Given the description of an element on the screen output the (x, y) to click on. 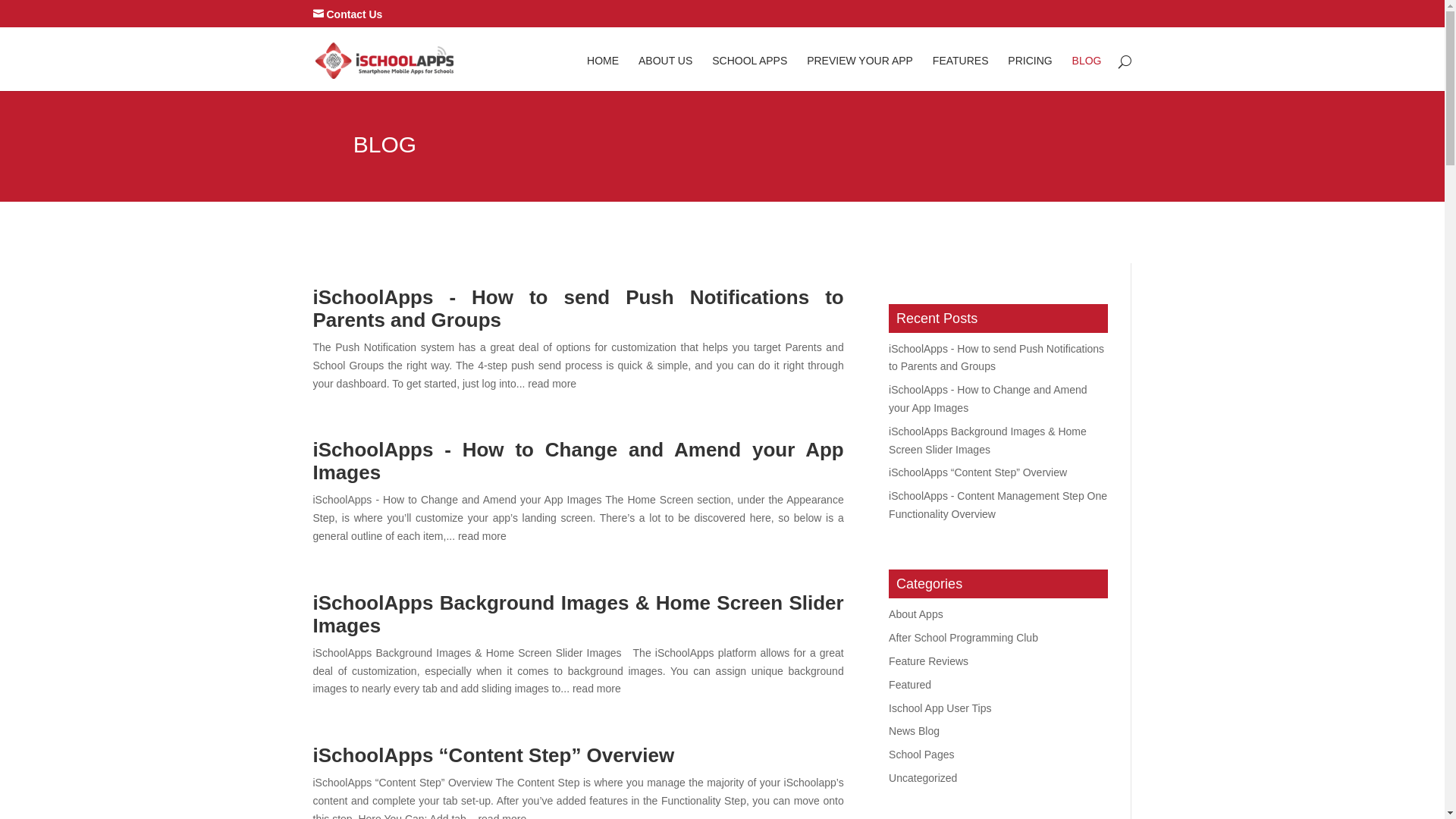
BLOG Element type: text (1086, 73)
SCHOOL APPS Element type: text (749, 73)
PRICING Element type: text (1029, 73)
FEATURES Element type: text (960, 73)
ABOUT US Element type: text (665, 73)
PREVIEW YOUR APP Element type: text (859, 73)
Contact Us Element type: text (347, 13)
HOME Element type: text (602, 73)
